Given the description of an element on the screen output the (x, y) to click on. 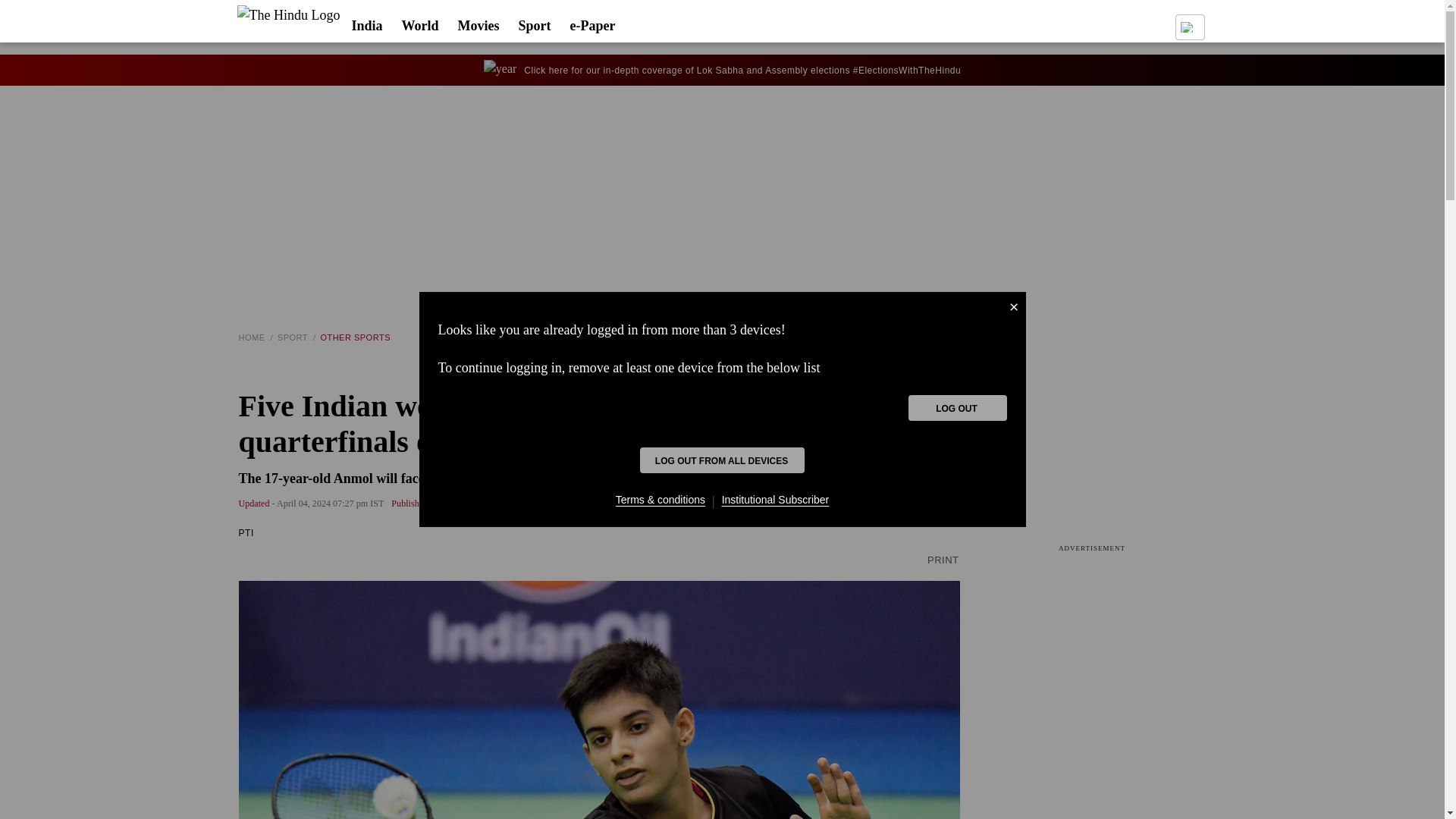
Sport (534, 28)
e-Paper (592, 28)
World (420, 28)
0 (292, 22)
India (365, 28)
Movies (478, 28)
